Given the description of an element on the screen output the (x, y) to click on. 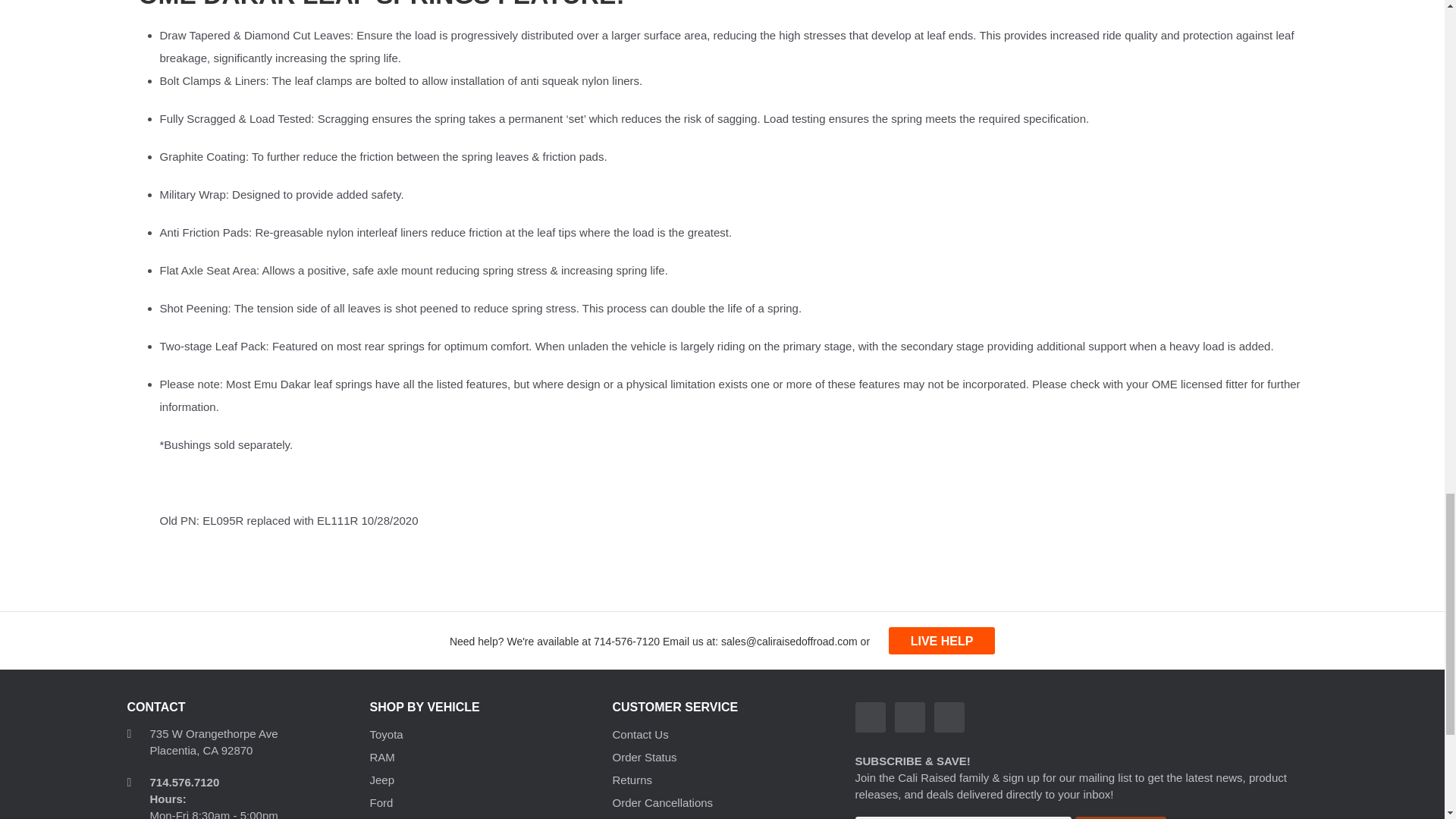
Instagram (909, 716)
Subscribe (1120, 817)
Contact Us (941, 640)
Facebook (870, 716)
YouTube (948, 716)
